Given the description of an element on the screen output the (x, y) to click on. 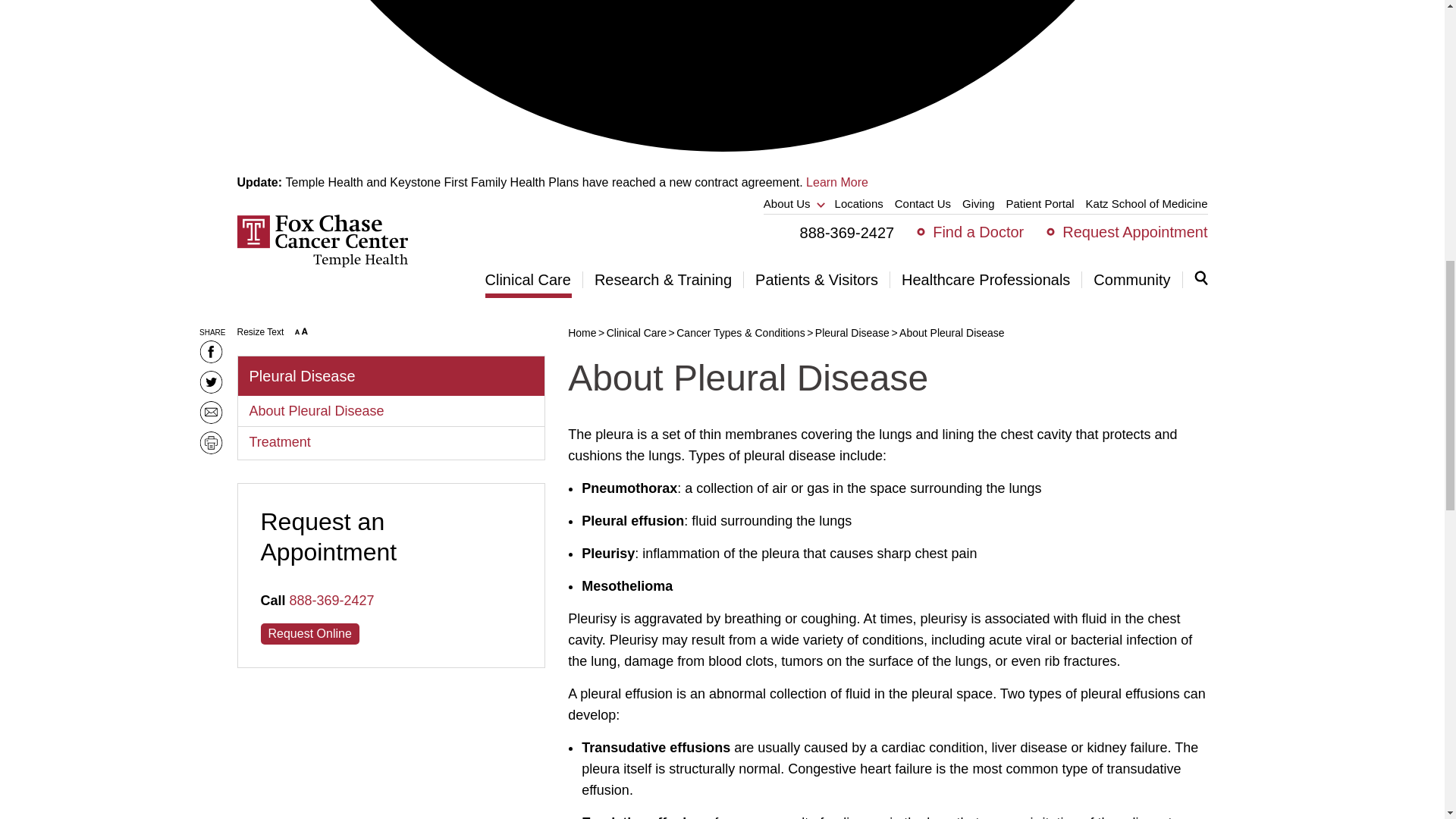
Giving (978, 203)
Find a Doctor (978, 231)
Request Appointment (1134, 231)
Locations (858, 203)
888-369-2427 (847, 232)
About Us (793, 203)
Contact Us (922, 203)
Katz School of Medicine (1147, 203)
Clinical Care (533, 279)
Patient Portal (1040, 203)
home (321, 263)
Learn More (836, 182)
